Given the description of an element on the screen output the (x, y) to click on. 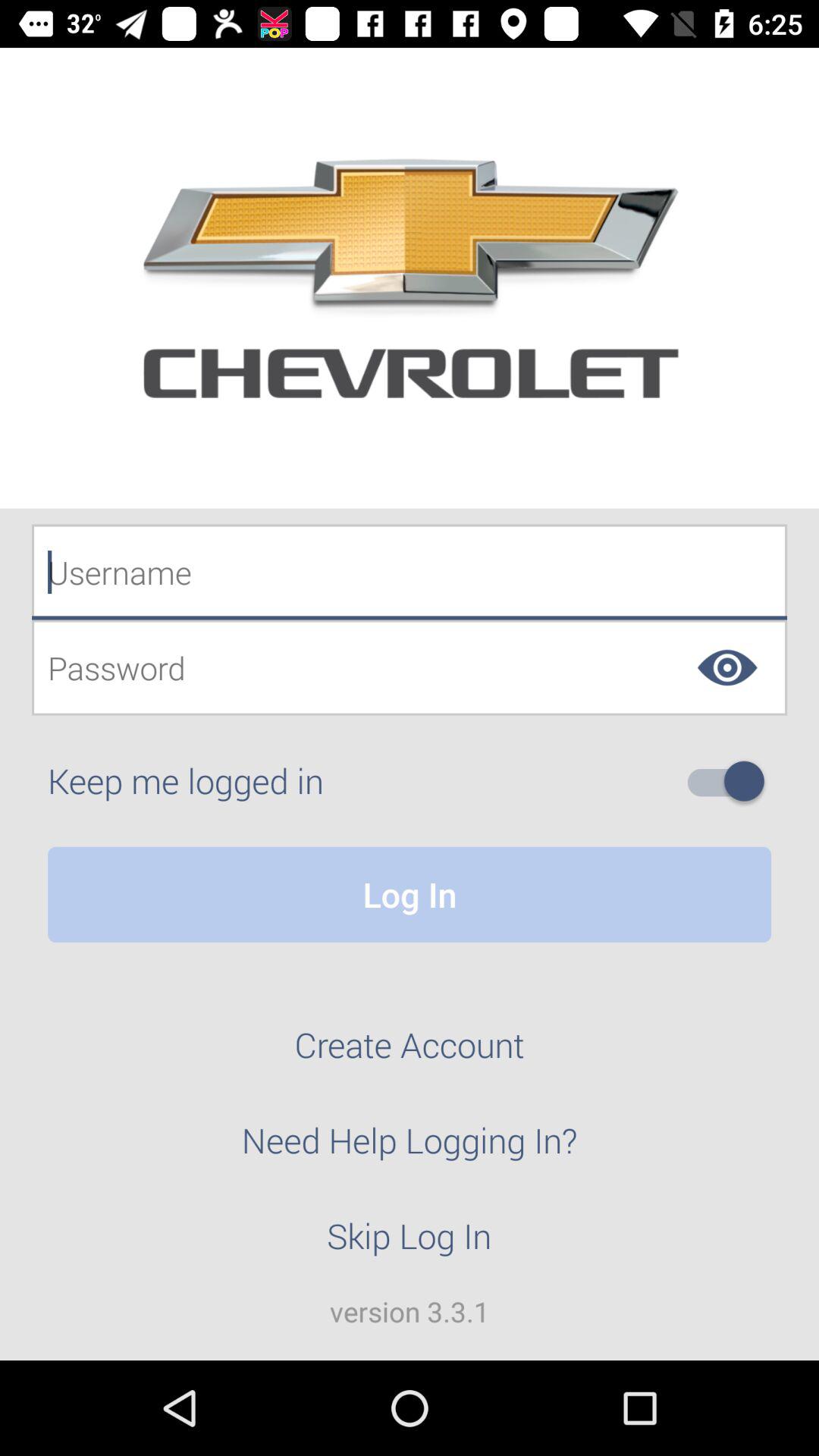
open item below create account (409, 1149)
